Given the description of an element on the screen output the (x, y) to click on. 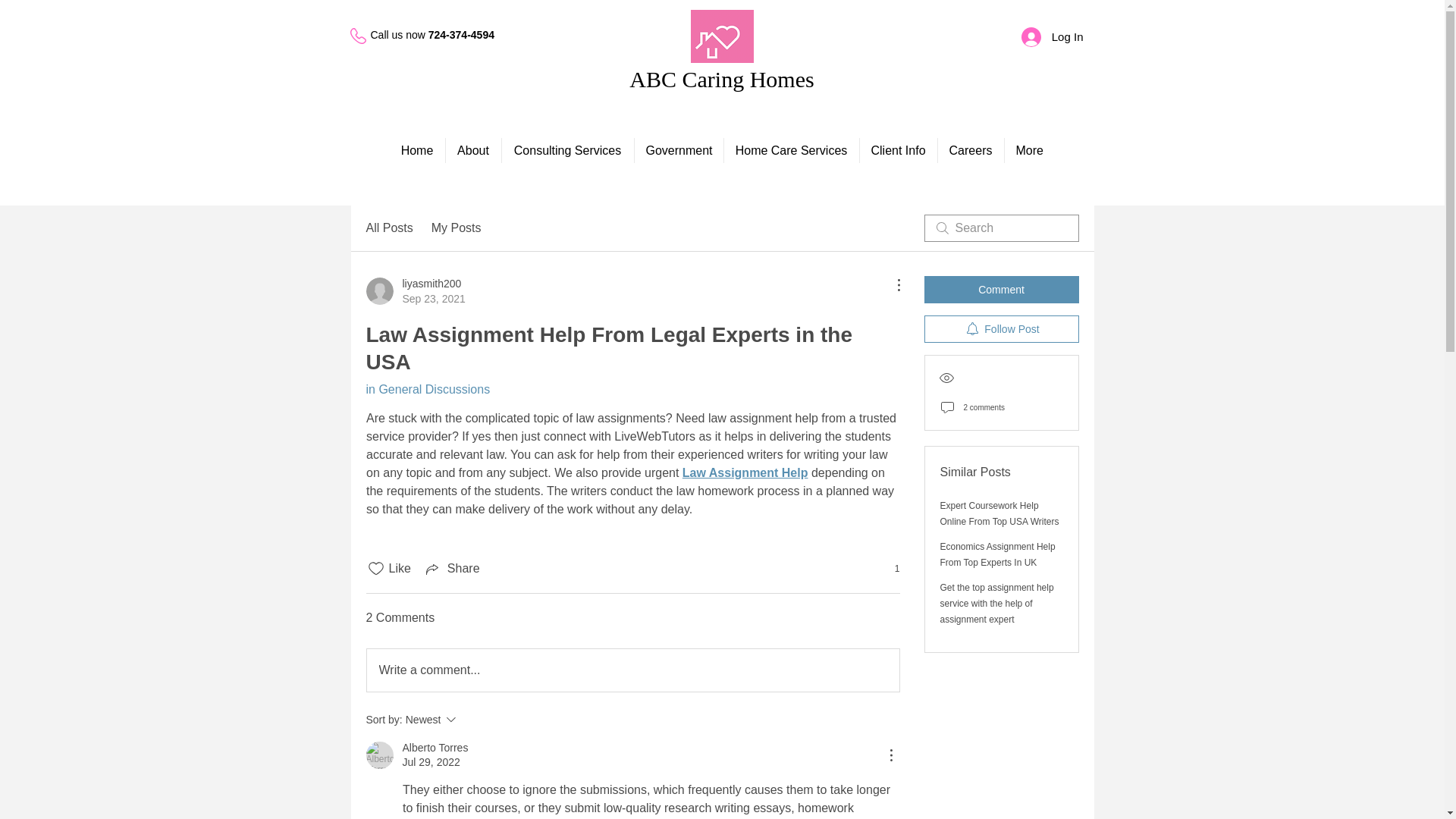
Careers (970, 150)
Write a comment... (632, 670)
Home (417, 150)
1 (888, 568)
Law Assignment Help (744, 472)
Client Info (898, 150)
About (472, 150)
All Posts (388, 228)
My Posts (471, 719)
Log In (455, 228)
Home Care Services (1052, 36)
ABC Caring Homes (791, 150)
Share (720, 78)
Call us now  (451, 568)
